Given the description of an element on the screen output the (x, y) to click on. 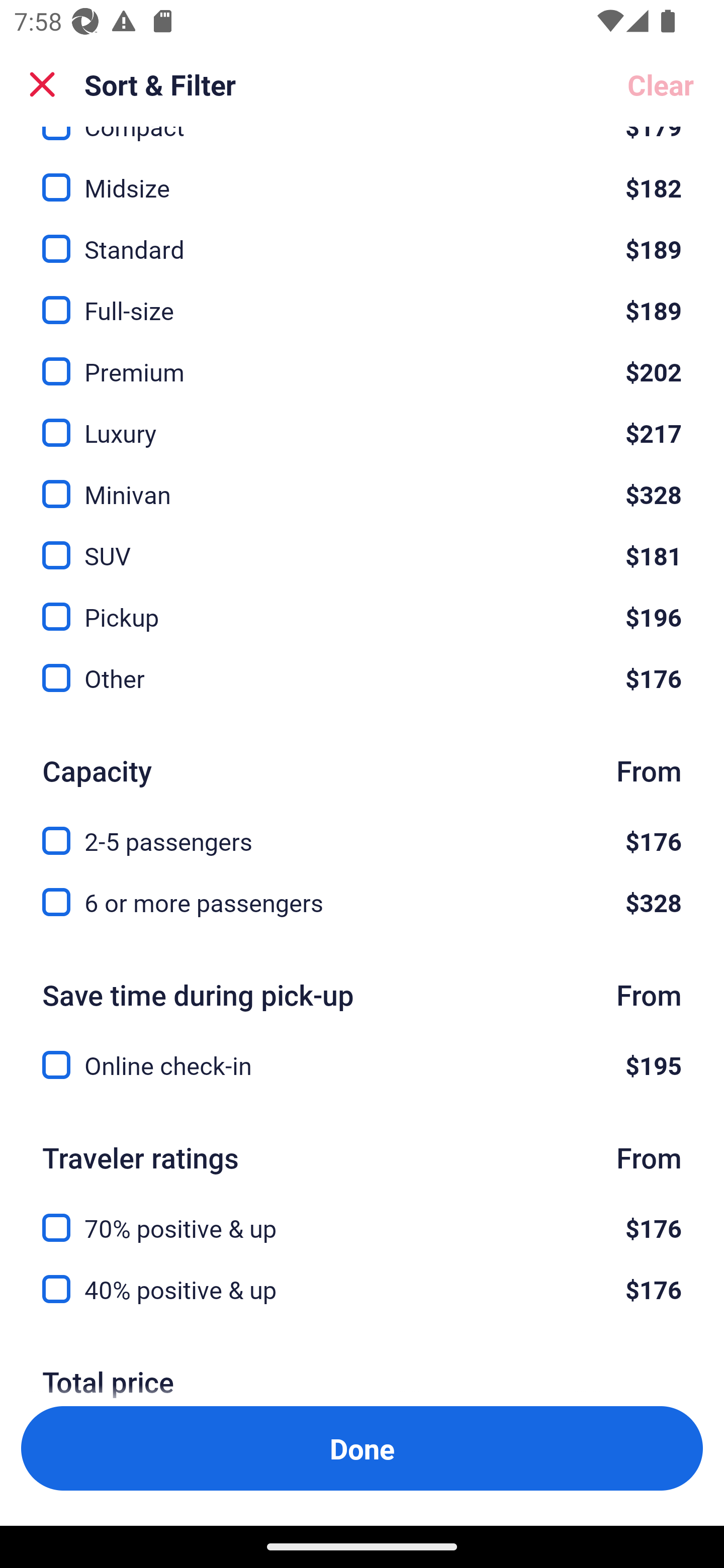
Close Sort and Filter (42, 84)
Clear (660, 84)
Midsize, $182 Midsize $182 (361, 175)
Standard, $189 Standard $189 (361, 237)
Full-size, $189 Full-size $189 (361, 298)
Premium, $202 Premium $202 (361, 359)
Luxury, $217 Luxury $217 (361, 420)
Minivan, $328 Minivan $328 (361, 482)
SUV, $181 SUV $181 (361, 544)
Pickup, $196 Pickup $196 (361, 605)
Other, $176 Other $176 (361, 678)
2-5 passengers, $176 2-5 passengers $176 (361, 829)
Online check-in, $195 Online check-in $195 (361, 1065)
70% positive & up, $176 70% positive & up $176 (361, 1216)
40% positive & up, $176 40% positive & up $176 (361, 1289)
Apply and close Sort and Filter Done (361, 1448)
